Given the description of an element on the screen output the (x, y) to click on. 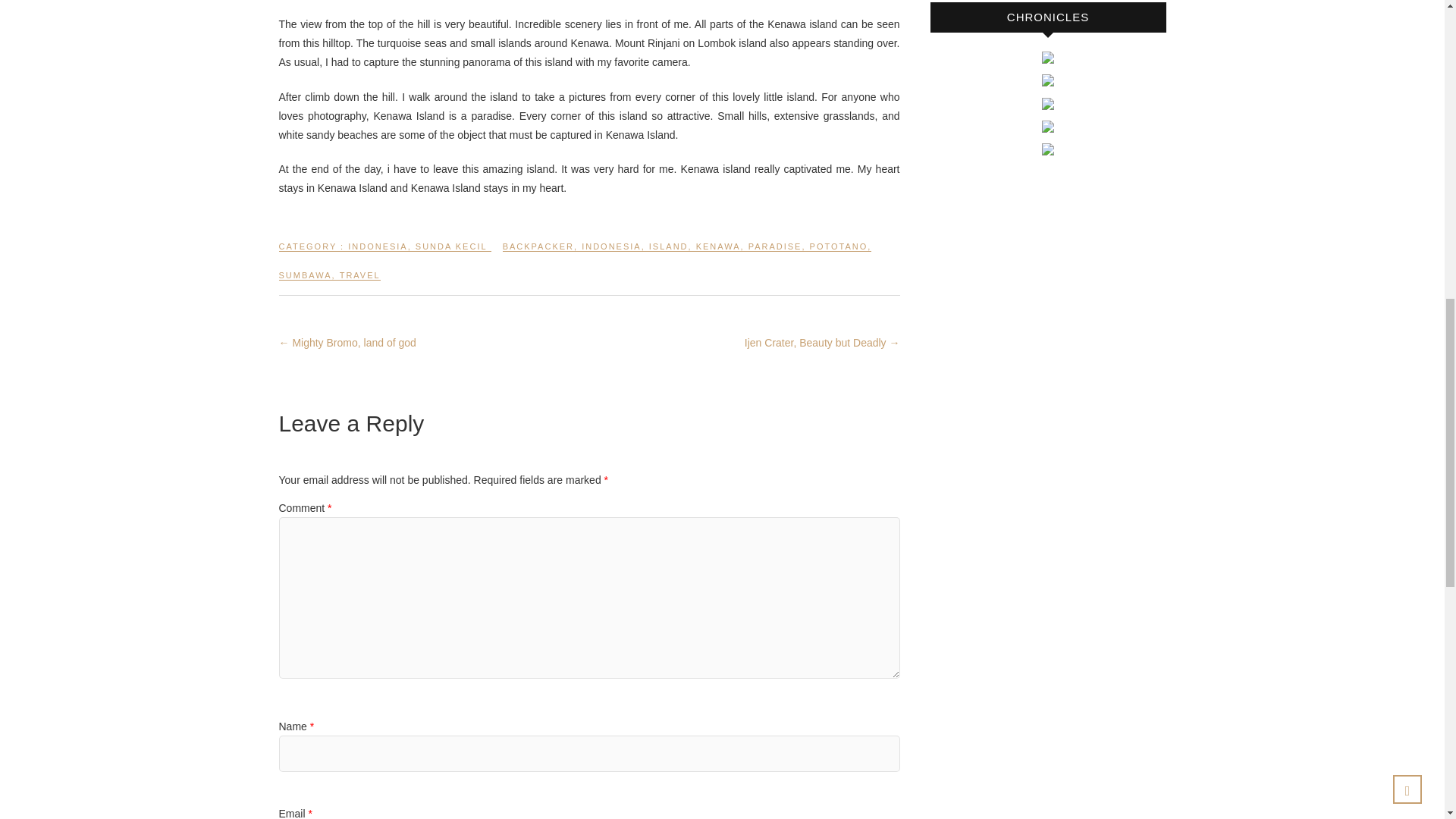
KENAWA (718, 252)
SUNDA KECIL (450, 252)
PARADISE (775, 252)
INDONESIA (377, 252)
BACKPACKER (537, 252)
INDONESIA (611, 252)
ISLAND (668, 252)
